Given the description of an element on the screen output the (x, y) to click on. 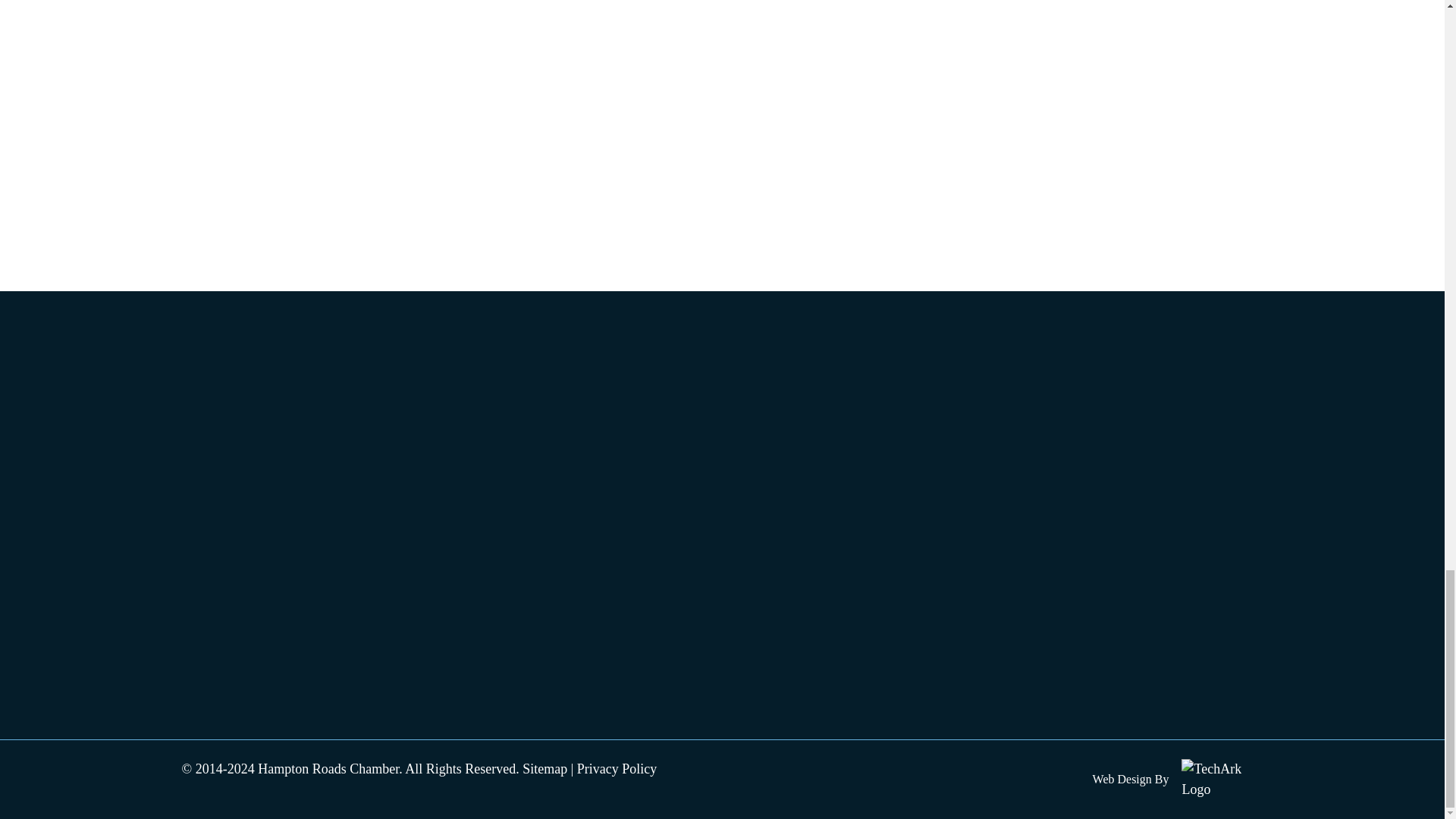
TechArk (1221, 779)
